Given the description of an element on the screen output the (x, y) to click on. 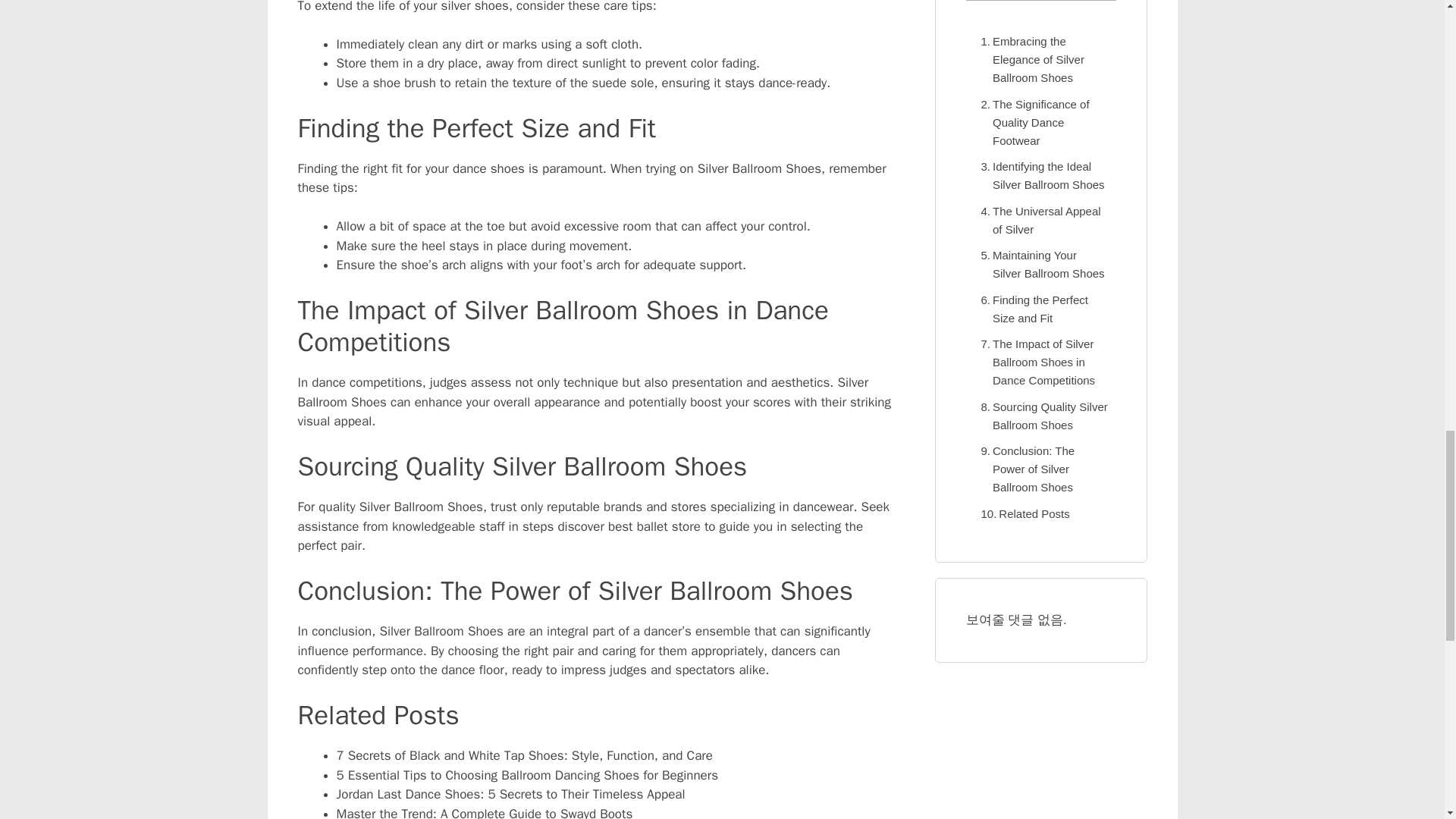
steps discover best ballet store (611, 526)
The Significance of Quality Dance Footwear (1041, 122)
Identifying the Ideal Silver Ballroom Shoes (1041, 176)
Maintaining Your Silver Ballroom Shoes (1041, 264)
Master the Trend: A Complete Guide to Swayd Boots (484, 812)
The Universal Appeal of Silver (1041, 219)
Embracing the Elegance of Silver Ballroom Shoes (1041, 59)
Jordan Last Dance Shoes: 5 Secrets to Their Timeless Appeal (510, 794)
